Given the description of an element on the screen output the (x, y) to click on. 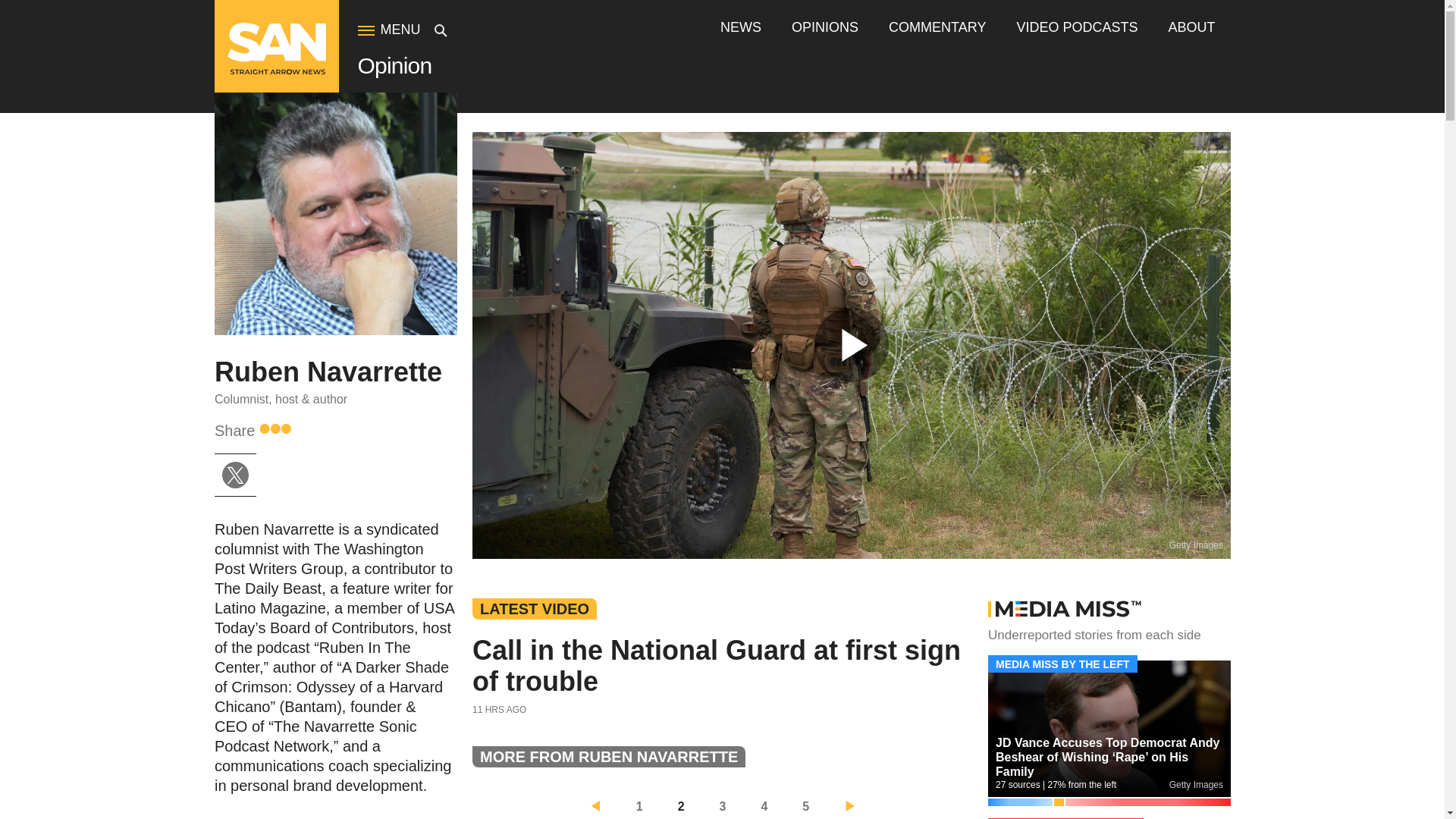
Home (276, 70)
OPINIONS (825, 27)
ABOUT (1190, 27)
Play Video (850, 344)
VIDEO PODCASTS (1076, 27)
COMMENTARY (936, 27)
NEWS (740, 27)
